Given the description of an element on the screen output the (x, y) to click on. 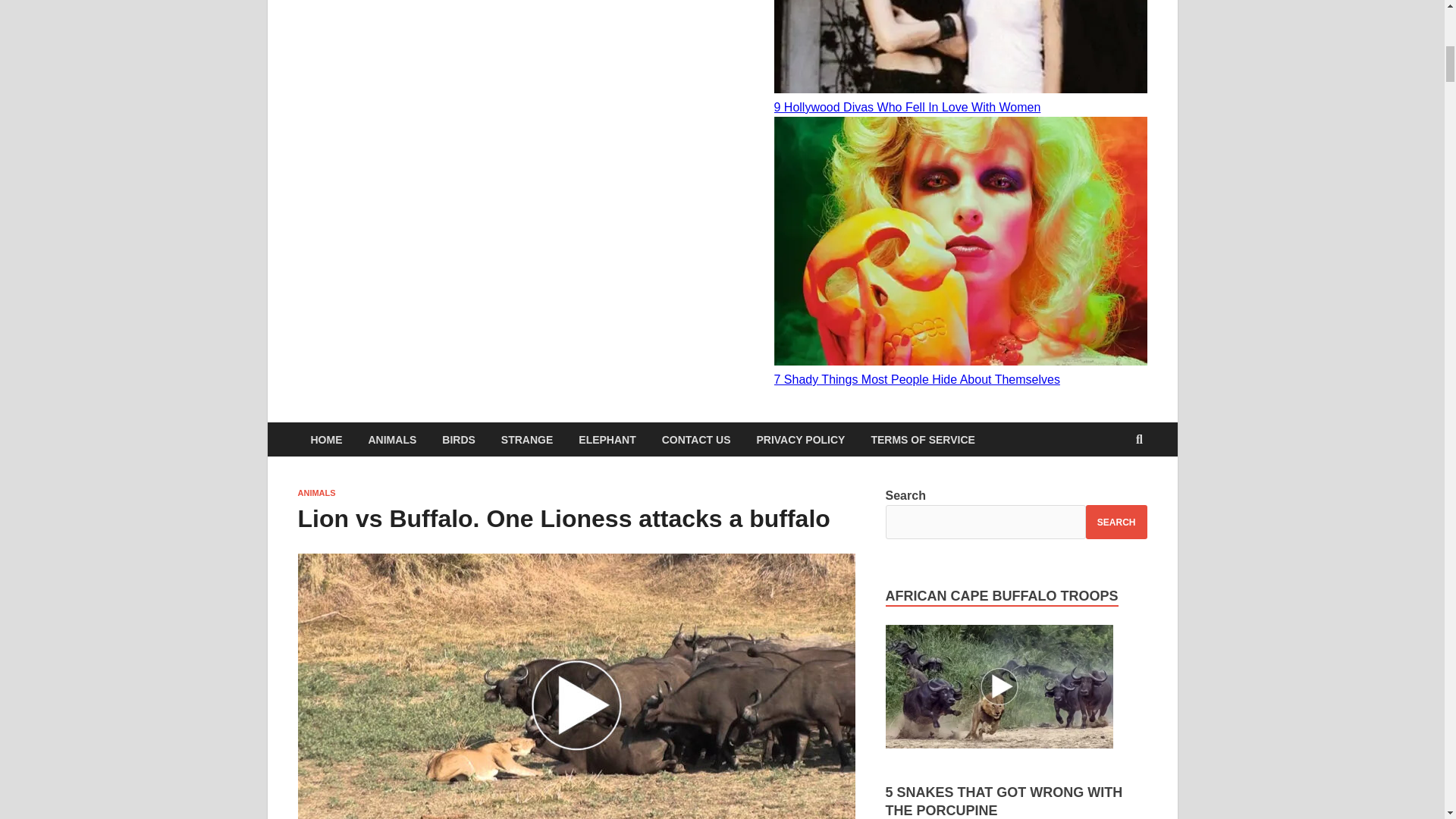
CONTACT US (696, 439)
TERMS OF SERVICE (922, 439)
BIRDS (458, 439)
STRANGE (526, 439)
ELEPHANT (606, 439)
PRIVACY POLICY (799, 439)
HOME (326, 439)
ANIMALS (392, 439)
ANIMALS (315, 492)
